Given the description of an element on the screen output the (x, y) to click on. 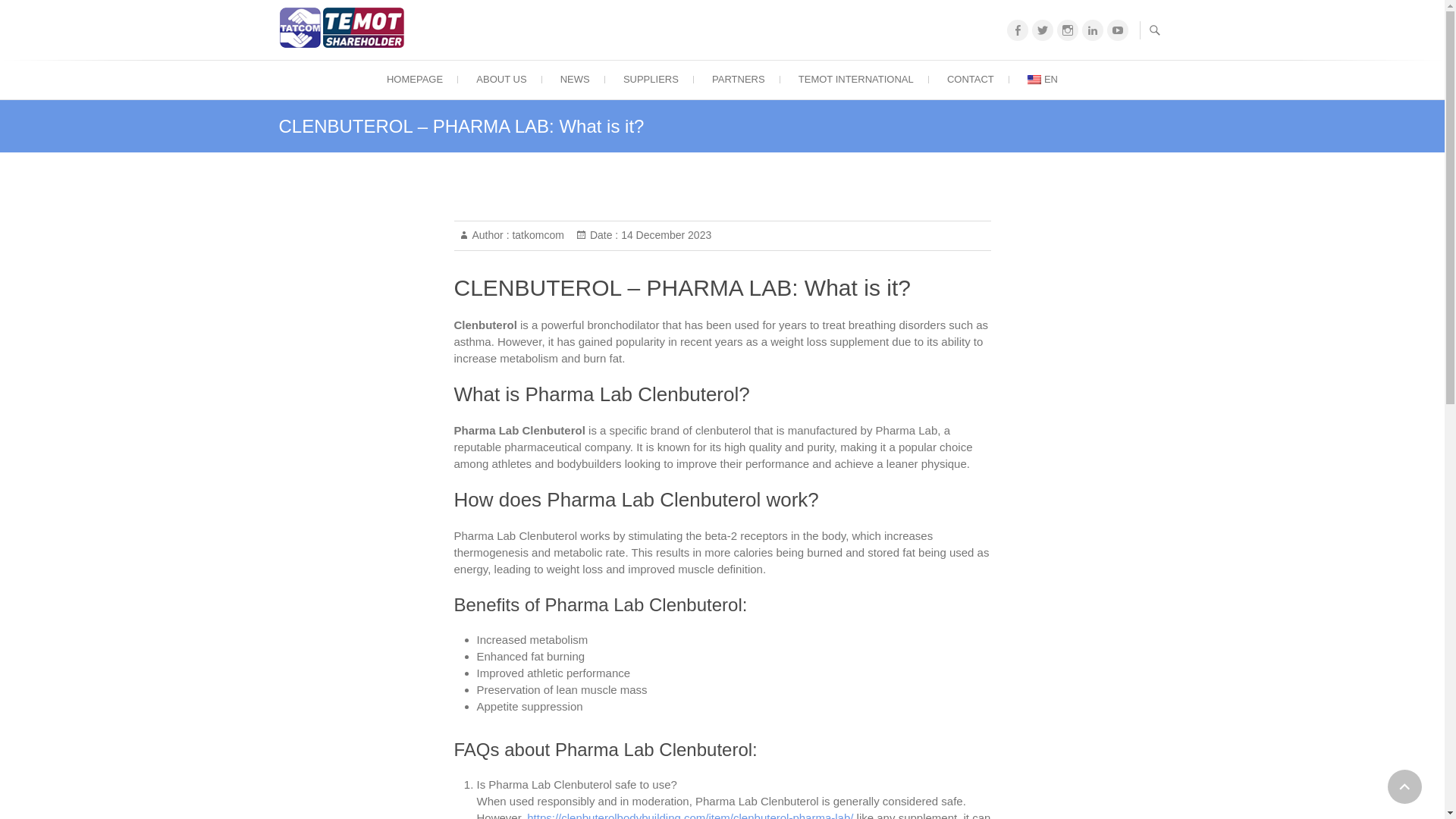
ABOUT US (501, 79)
tatcom.com.tr (471, 67)
Youtube (1117, 29)
PARTNERS (738, 79)
tatkomcom (536, 234)
tatcom.com.tr (471, 67)
instagram (1067, 29)
facebook (1017, 29)
twitter (1041, 29)
CONTACT (970, 79)
tatkomcom (536, 234)
SUPPLIERS (651, 79)
HOMEPAGE (414, 79)
14 December 2023 (664, 234)
tatcom.com.tr (345, 27)
